Given the description of an element on the screen output the (x, y) to click on. 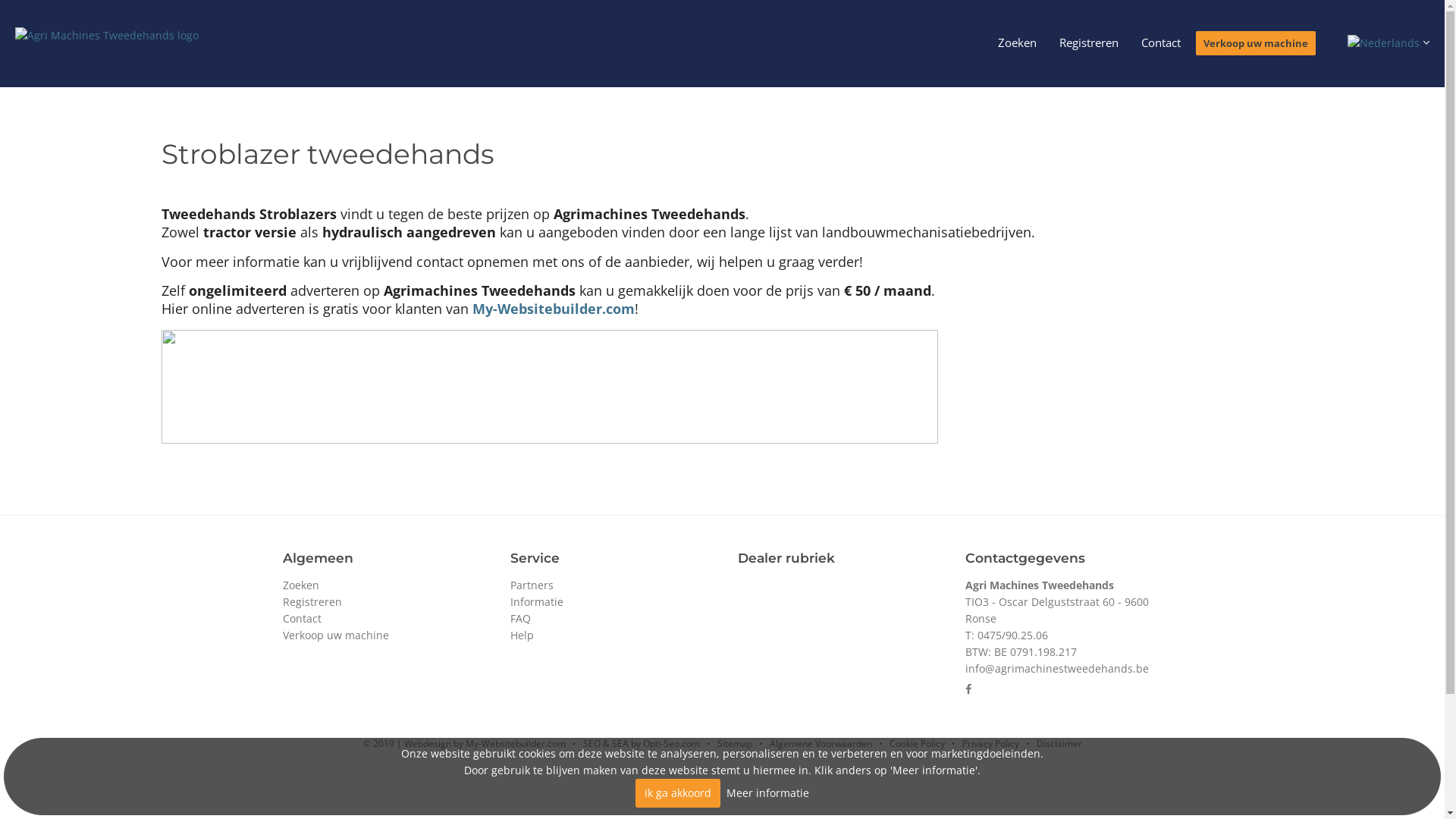
Partners Element type: text (530, 584)
Opti-Seo.com Element type: text (671, 743)
Contact Element type: text (301, 618)
Ik ga akkoord Element type: text (677, 792)
Informatie Element type: text (535, 601)
Registreren Element type: text (1088, 42)
info@agrimachinestweedehands.be Element type: text (1056, 668)
Privacy Policy Element type: text (989, 743)
Contact Element type: text (1160, 42)
  Element type: text (1387, 40)
Sitemap Element type: text (734, 743)
Cookie Policy Element type: text (916, 743)
My-Websitebuilder.com Element type: text (515, 743)
Zoeken Element type: text (300, 584)
Verkoop uw machine Element type: text (1255, 43)
Help Element type: text (521, 634)
Verkoop uw machine Element type: text (335, 634)
Disclaimer Element type: text (1058, 743)
Registreren Element type: text (311, 601)
My-Websitebuilder.com Element type: text (552, 308)
0475/90.25.06 Element type: text (1011, 634)
Meer informatie Element type: text (767, 792)
Zoeken Element type: text (1017, 42)
Algemene Voorwaarden Element type: text (819, 743)
FAQ Element type: text (519, 618)
